Given the description of an element on the screen output the (x, y) to click on. 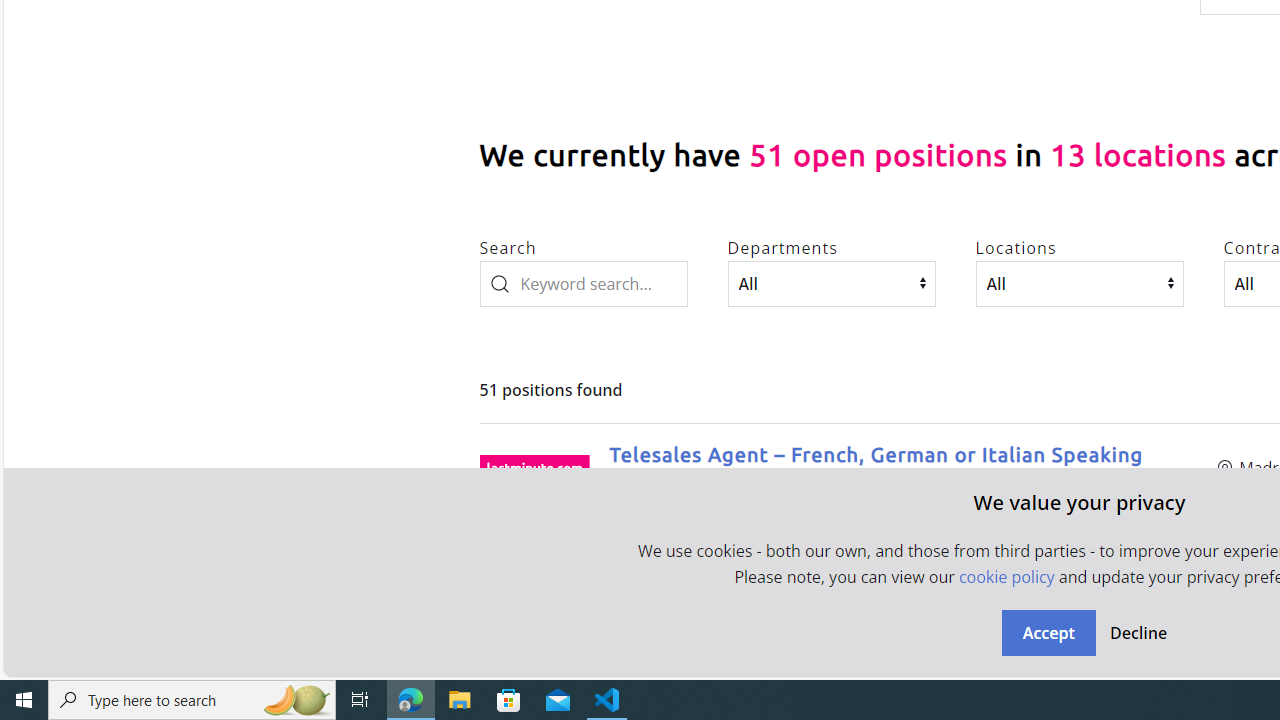
cookie policy (1005, 576)
Accept (1047, 632)
Departments (831, 283)
Decline (1137, 632)
Locations (1079, 283)
